Given the description of an element on the screen output the (x, y) to click on. 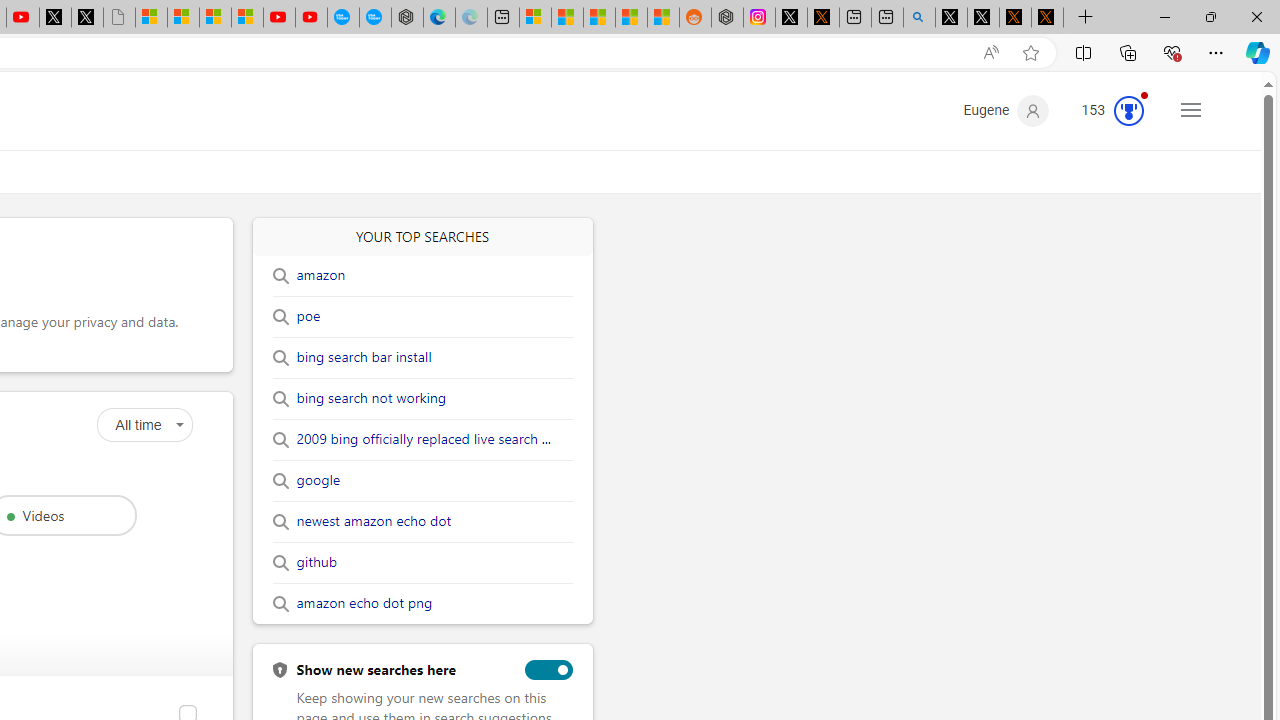
amazon (320, 275)
Eugene (1005, 110)
GitHub (@github) / X (983, 17)
bing search bar install (363, 357)
YouTube Kids - An App Created for Kids to Explore Content (310, 17)
Log in to X / X (791, 17)
github (315, 562)
2009 bing officially replaced live search ... (422, 439)
Class: medal-circled (1129, 110)
